Given the description of an element on the screen output the (x, y) to click on. 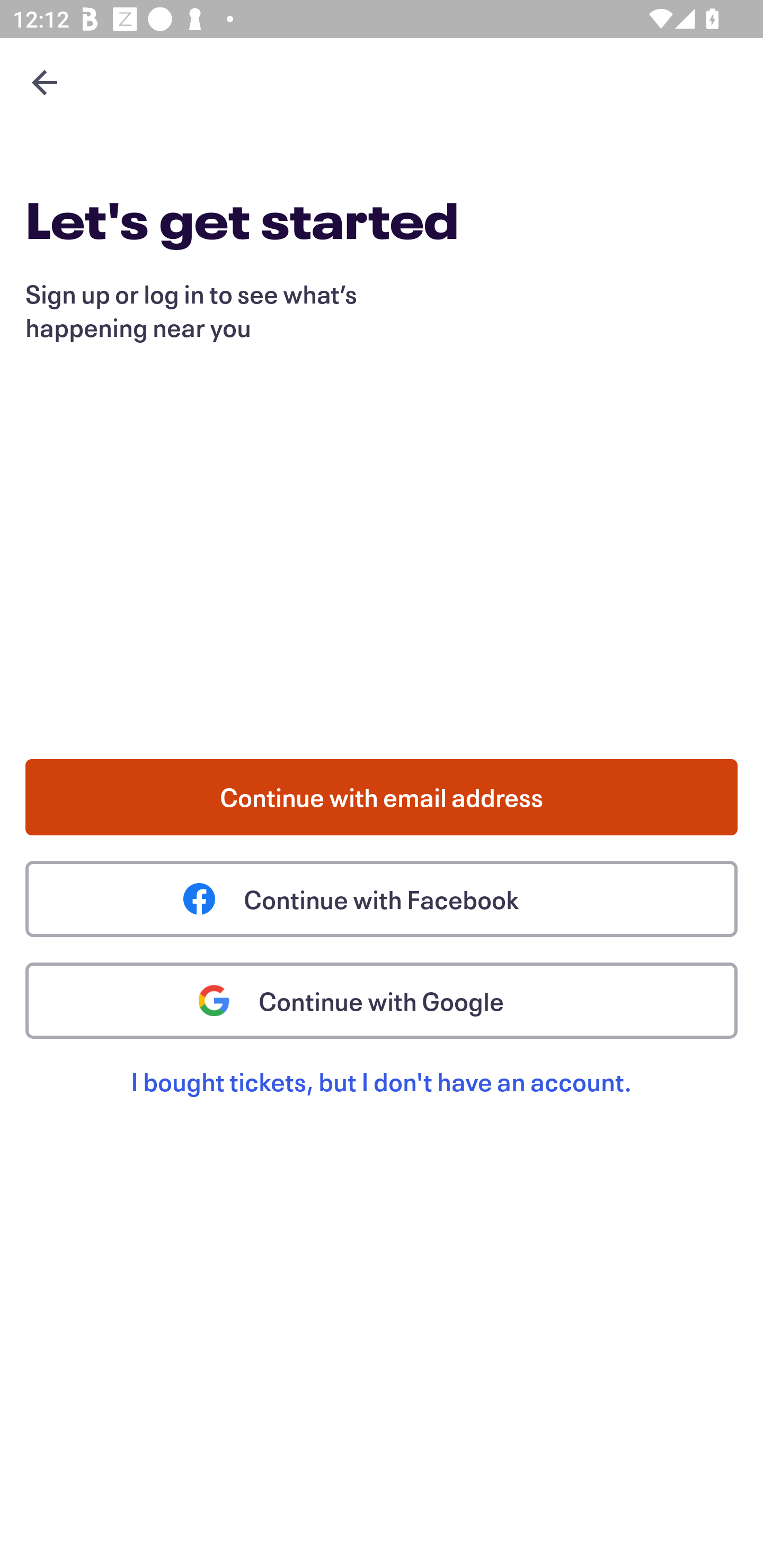
Navigate up (44, 82)
Continue with email address (381, 796)
I bought tickets, but I don't have an account. (381, 1101)
